Given the description of an element on the screen output the (x, y) to click on. 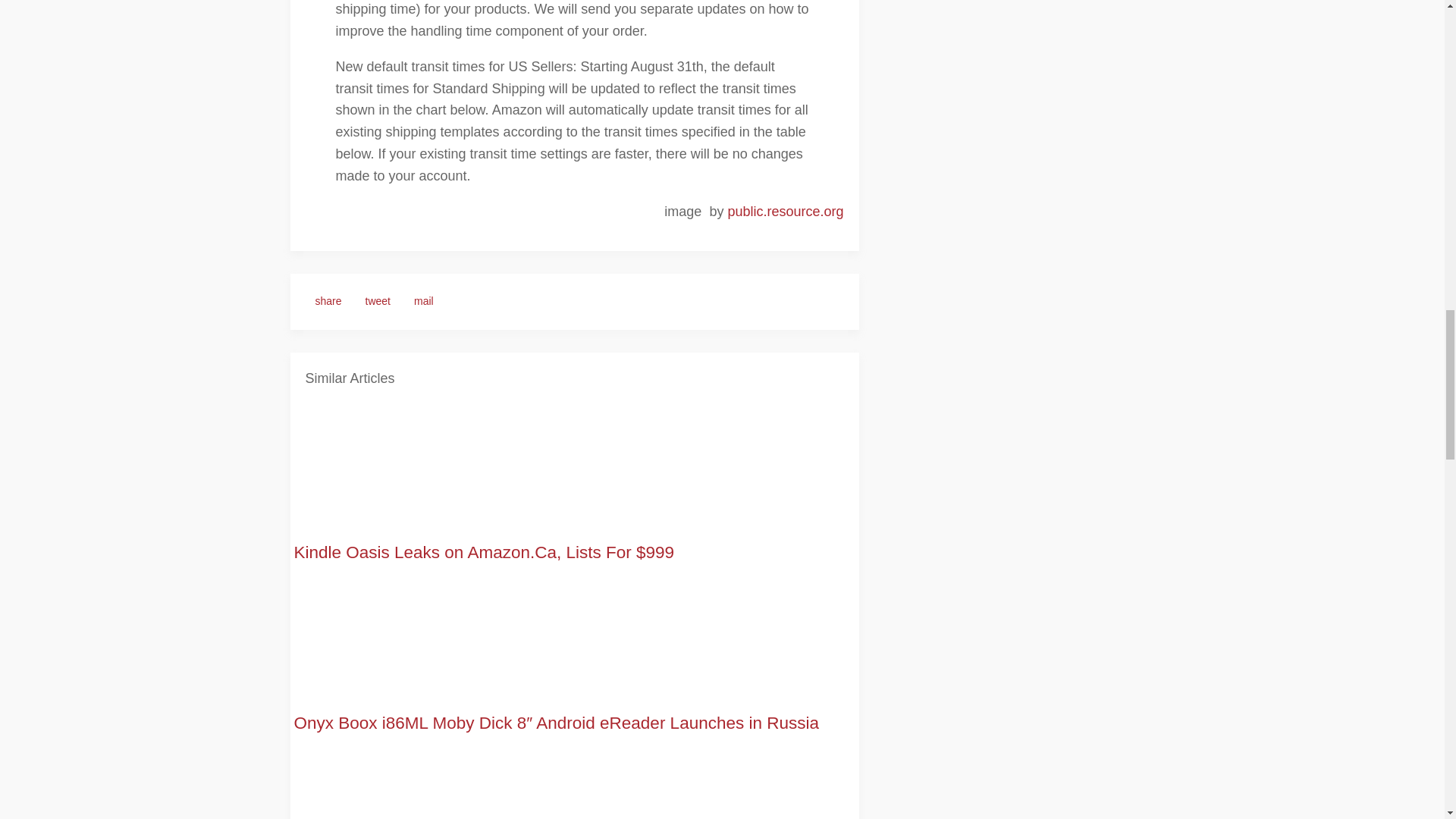
share (327, 301)
mail (424, 301)
public.resource.org (784, 211)
tweet (377, 301)
